Given the description of an element on the screen output the (x, y) to click on. 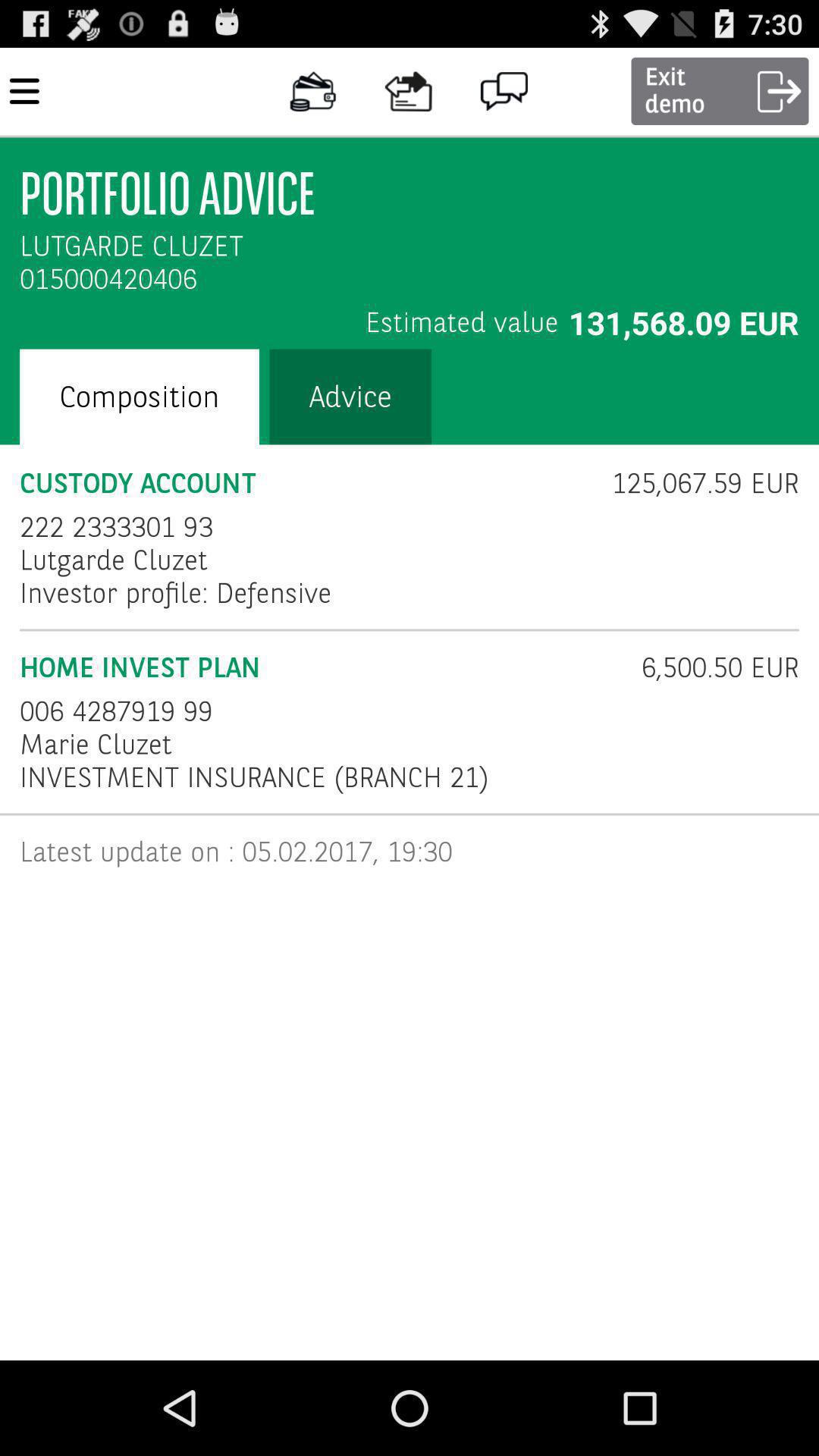
turn off item next to the 6 500 50 (116, 711)
